Given the description of an element on the screen output the (x, y) to click on. 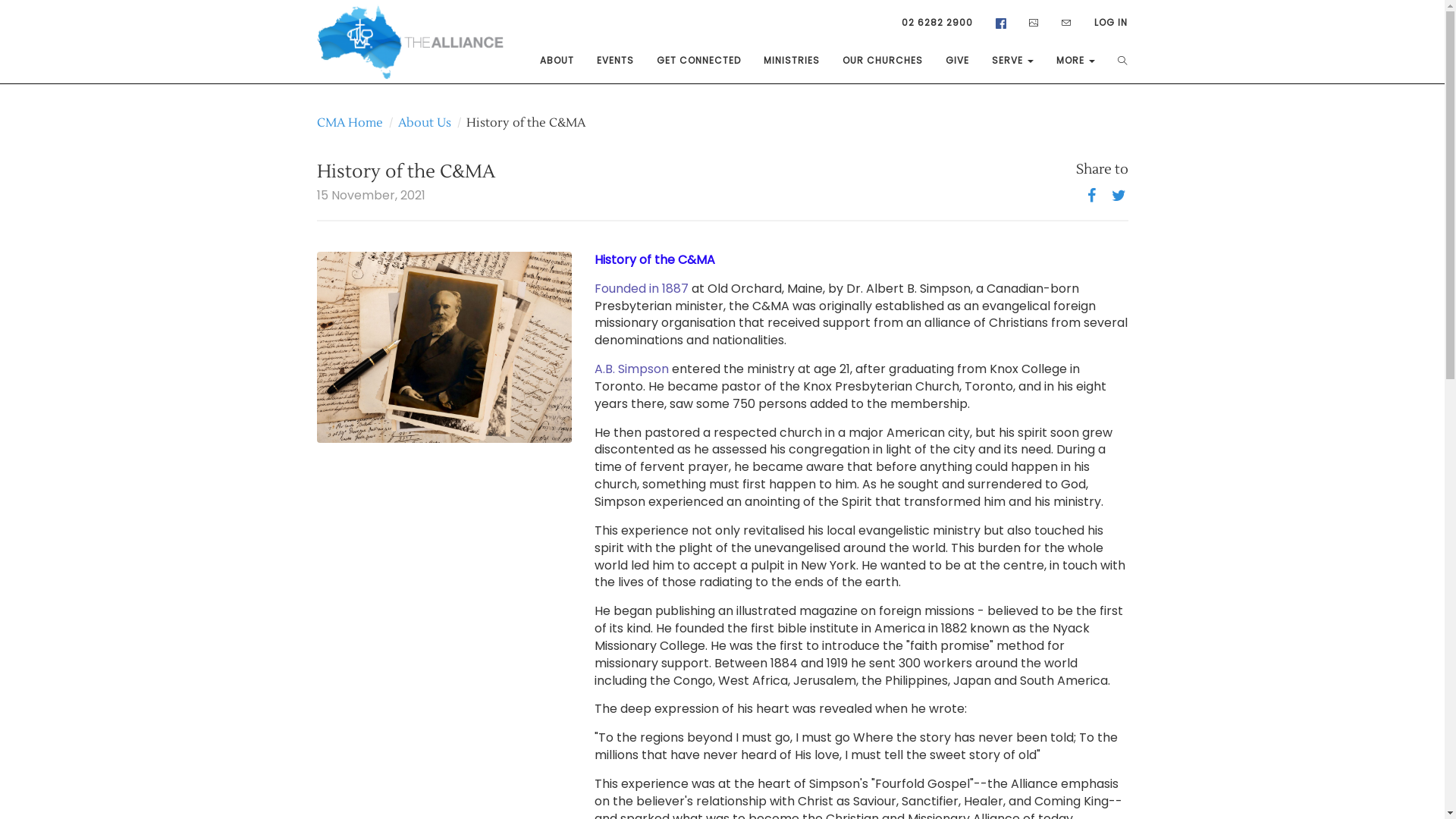
OUR CHURCHES Element type: text (882, 60)
GET CONNECTED Element type: text (698, 60)
SERVE Element type: text (1012, 60)
About Us Element type: text (423, 122)
ABOUT Element type: text (556, 60)
CMA Home Element type: text (349, 122)
EVENTS Element type: text (615, 60)
MORE Element type: text (1075, 60)
LOG IN Element type: text (1110, 22)
GIVE Element type: text (957, 60)
MINISTRIES Element type: text (791, 60)
02 6282 2900 Element type: text (937, 22)
